Given the description of an element on the screen output the (x, y) to click on. 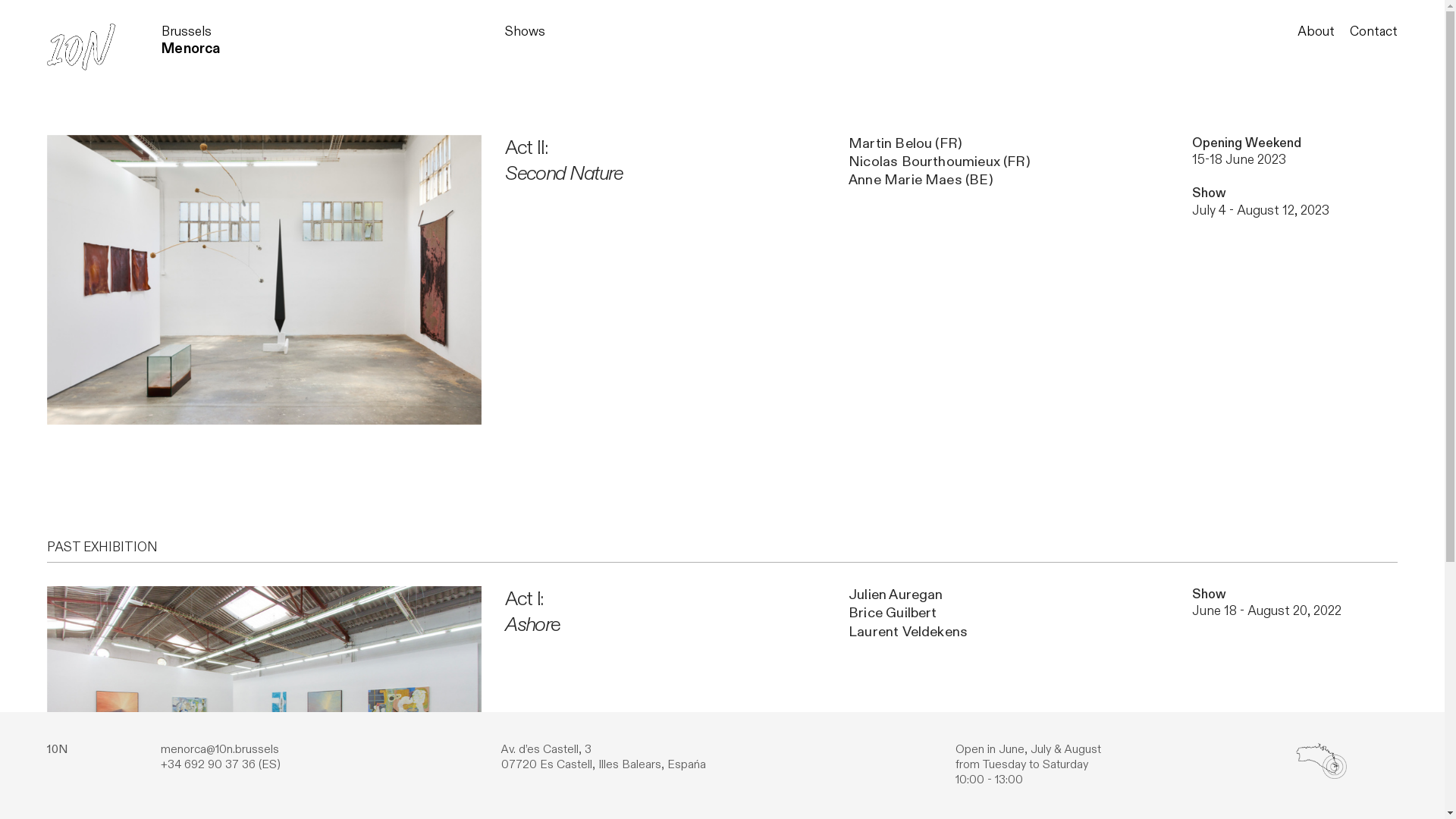
About Element type: text (1315, 31)
menorca@10n.brussels Element type: text (219, 749)
Act I:
Ashor Element type: text (527, 611)
Shows Element type: text (525, 31)
Menorca Element type: text (190, 48)
Act II: 
Second Nature Element type: text (564, 160)
Brussels Element type: text (186, 31)
Julien Auregan
Brice Guilbert
Laurent Veldekens Element type: text (907, 613)
Contact Element type: text (1373, 31)
